Given the description of an element on the screen output the (x, y) to click on. 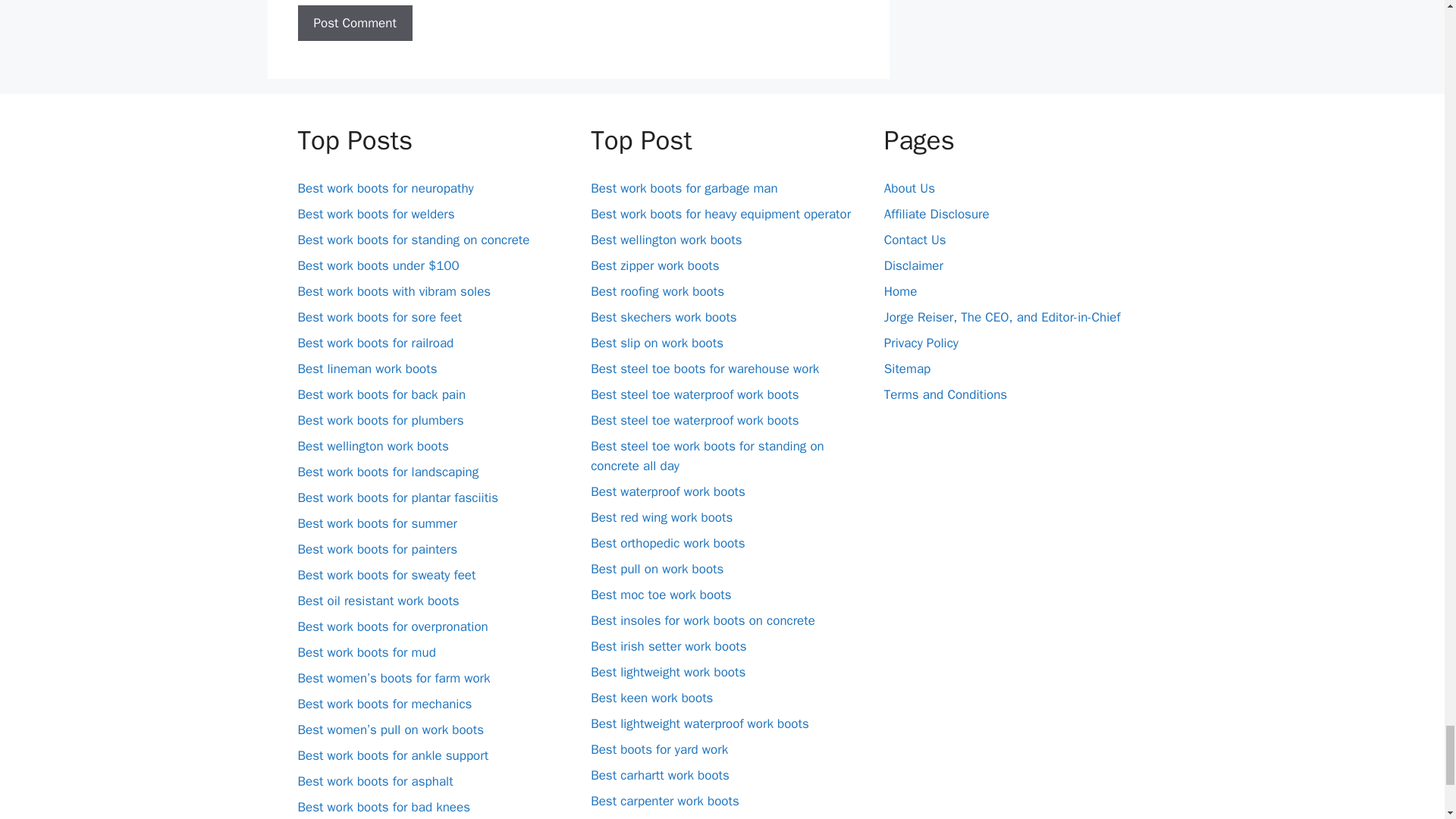
Post Comment (354, 22)
